Given the description of an element on the screen output the (x, y) to click on. 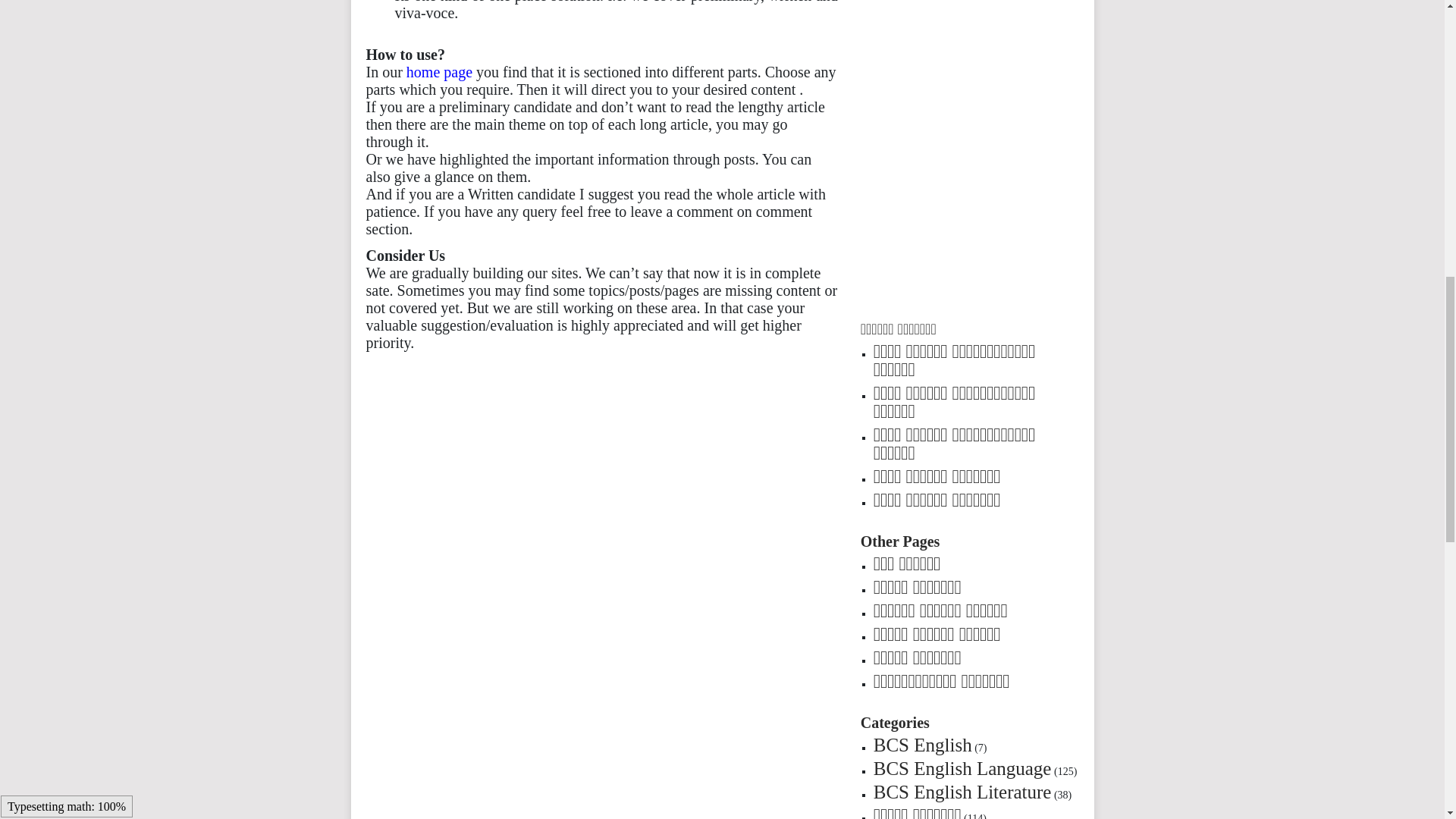
home page (441, 71)
BCS English (922, 744)
BCS English Language (962, 768)
BCS English Literature (962, 792)
